Given the description of an element on the screen output the (x, y) to click on. 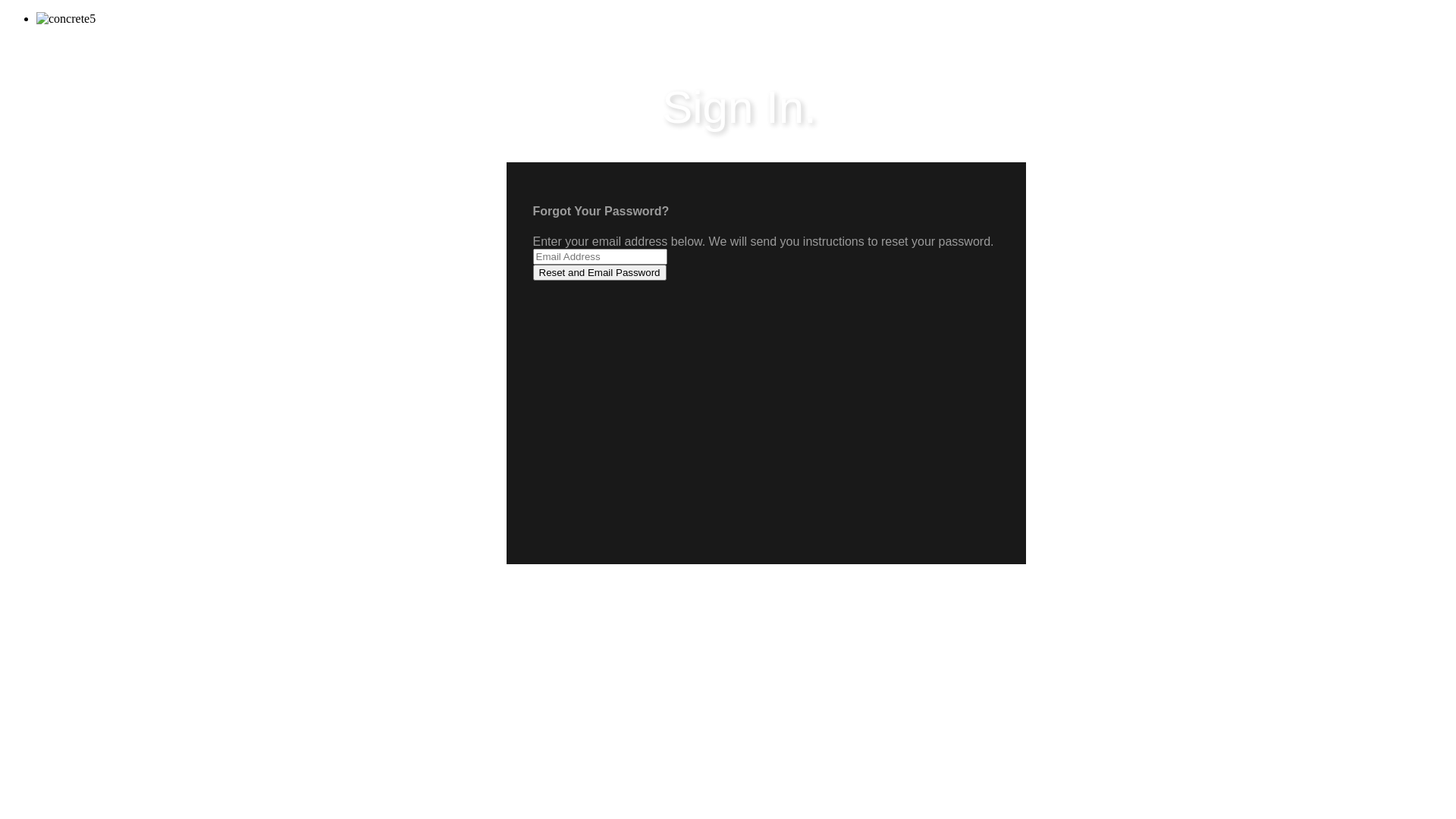
Reset and Email Password Element type: text (598, 272)
concrete5 Element type: hover (65, 18)
